Given the description of an element on the screen output the (x, y) to click on. 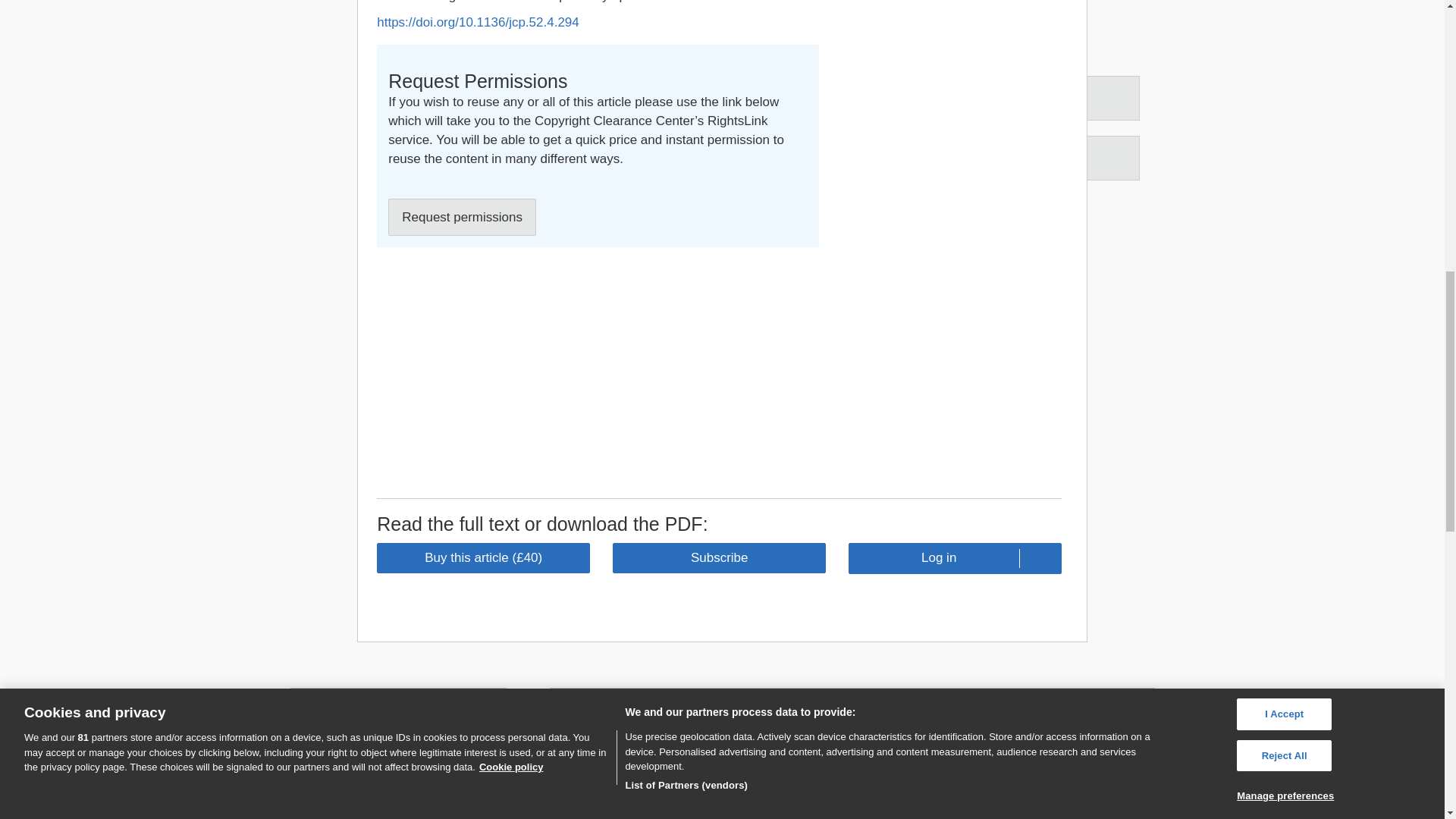
careers widget (397, 753)
3rd party ad content (947, 240)
